Given the description of an element on the screen output the (x, y) to click on. 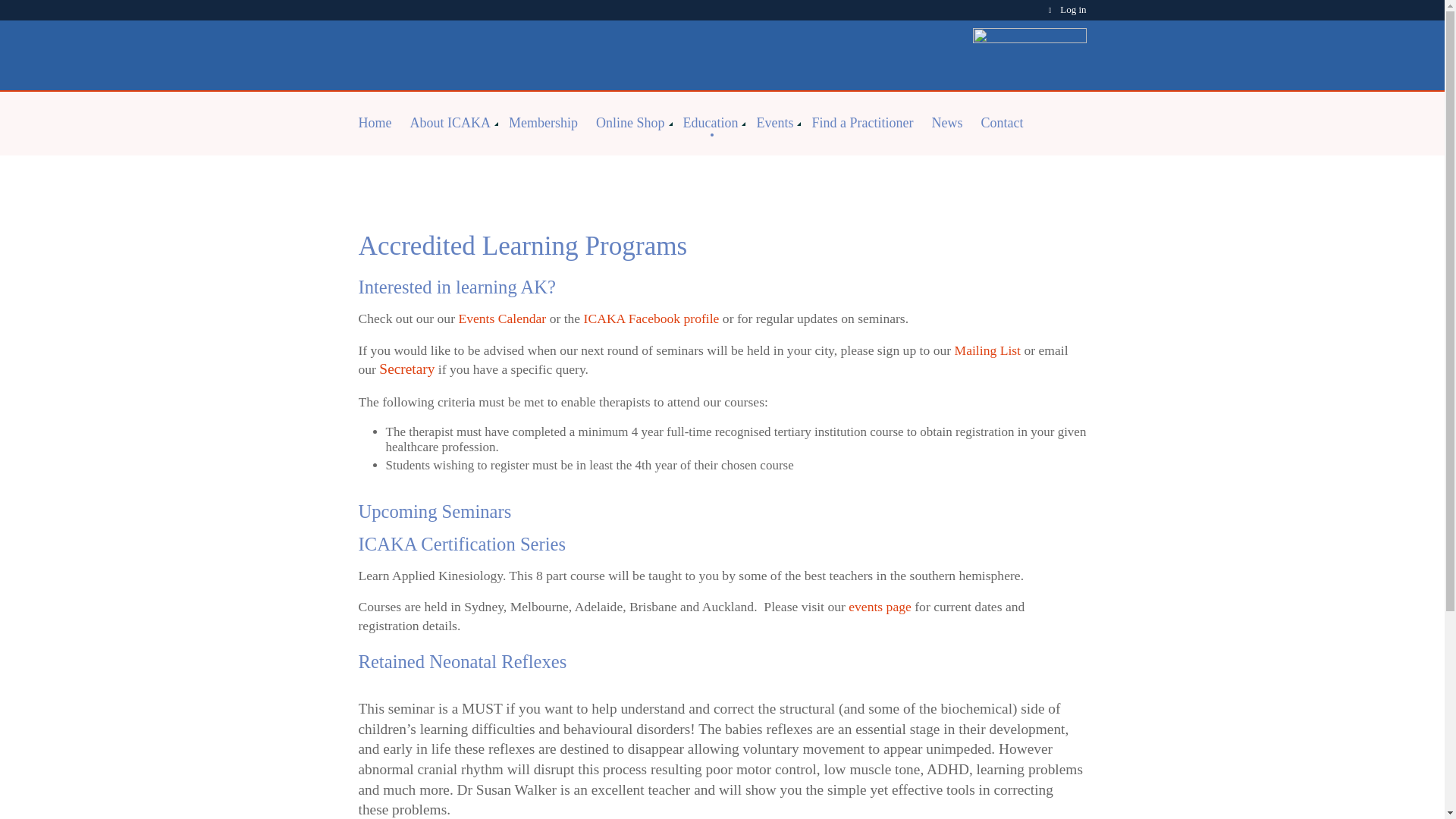
Membership (551, 114)
Find a Practitioner (870, 114)
Log in (1064, 10)
Home (383, 114)
Events (782, 114)
About ICAKA (458, 114)
Education (718, 114)
Online Shop (638, 114)
